Given the description of an element on the screen output the (x, y) to click on. 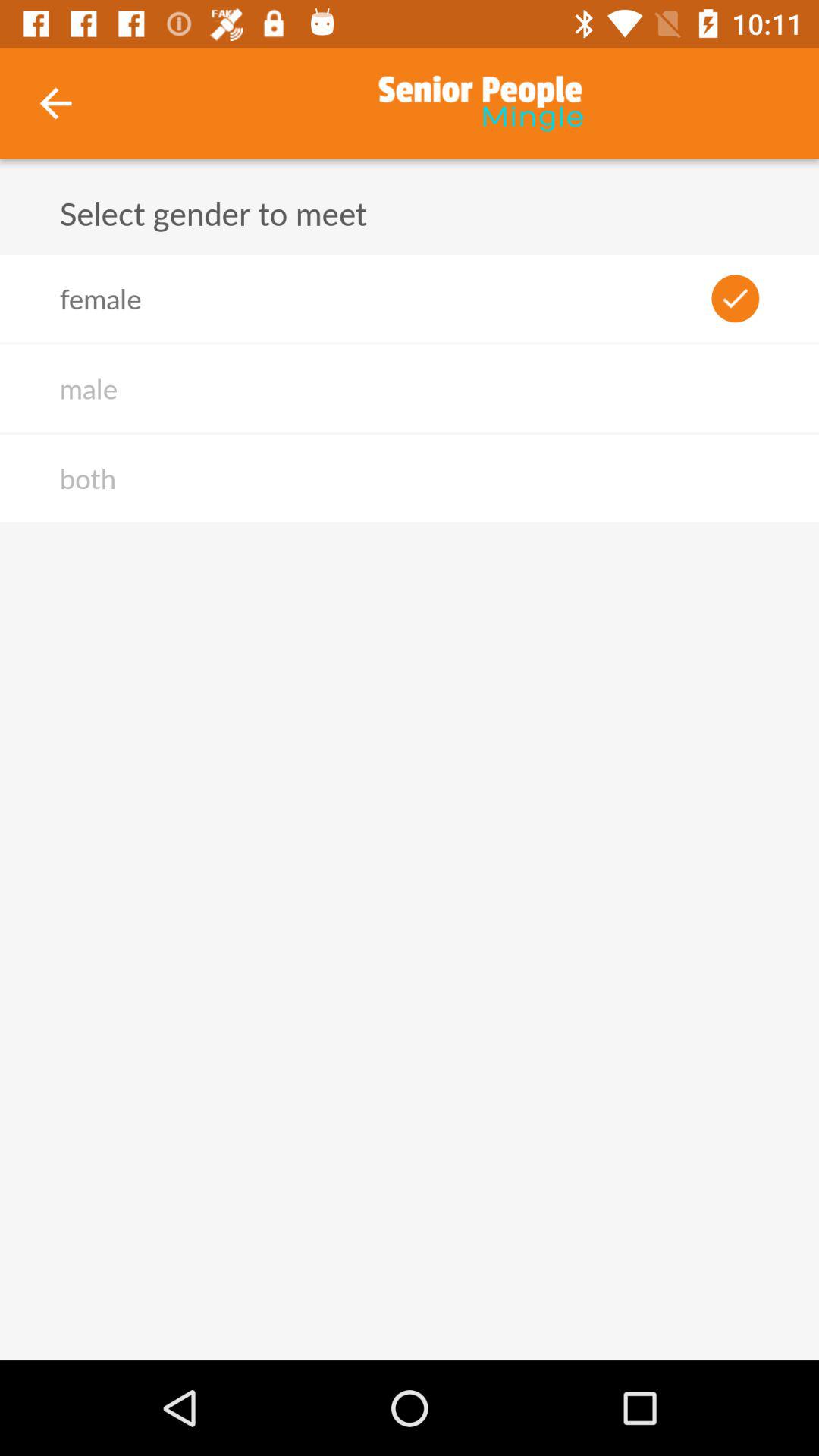
launch the item above the male (100, 298)
